Given the description of an element on the screen output the (x, y) to click on. 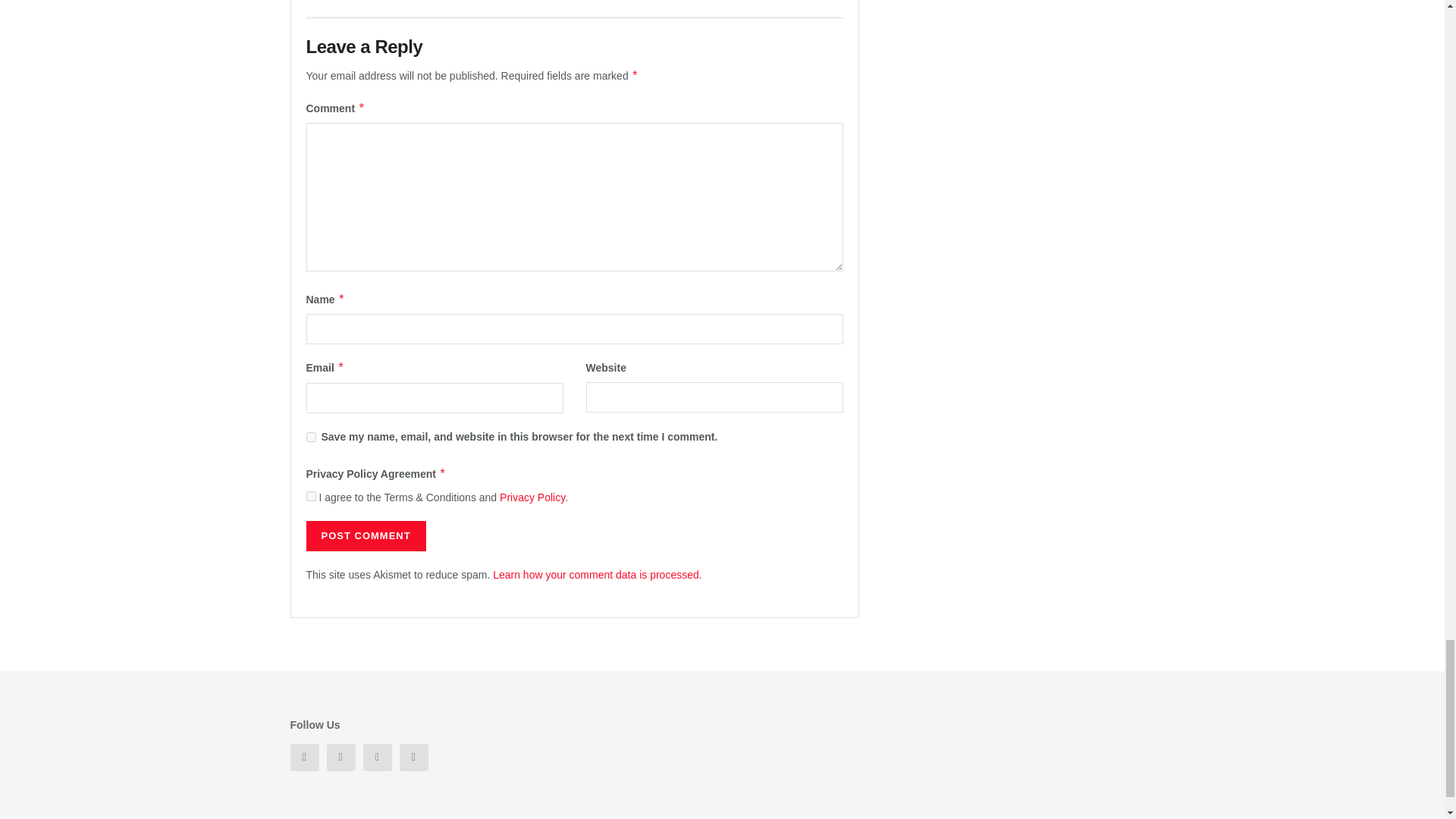
yes (310, 437)
on (310, 496)
Post Comment (365, 535)
